Given the description of an element on the screen output the (x, y) to click on. 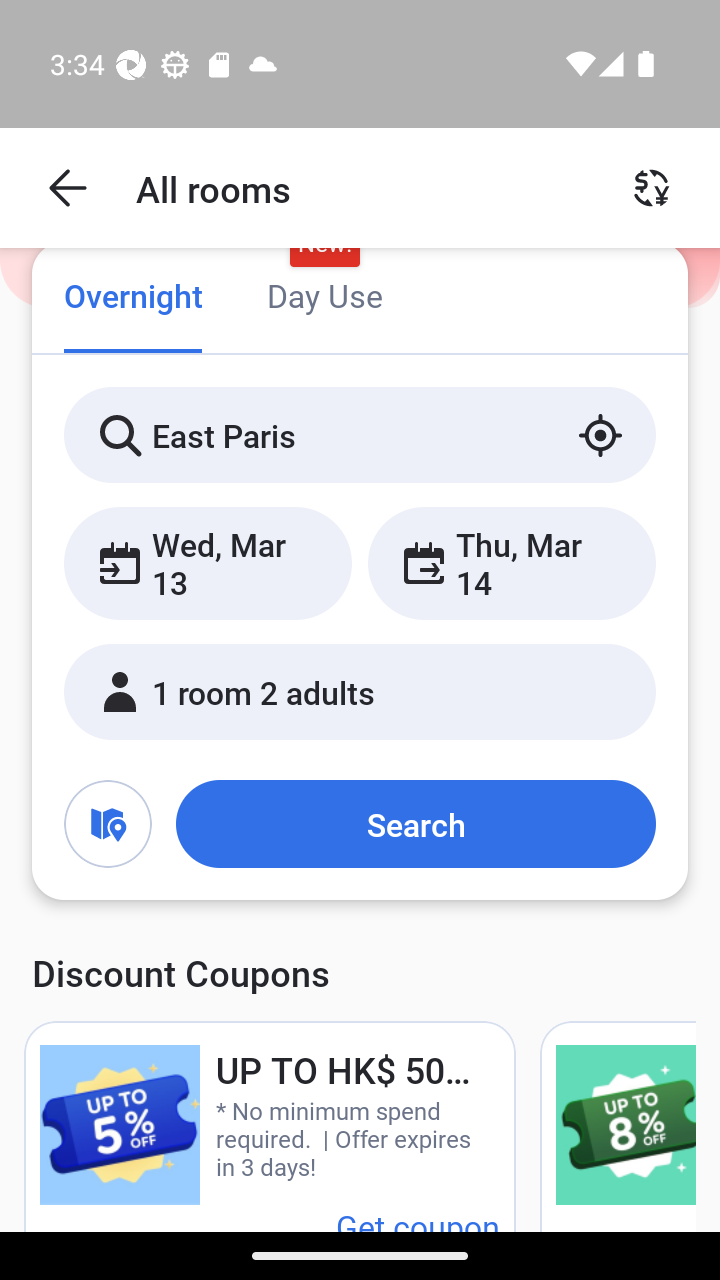
Day Use (324, 298)
East Paris (359, 434)
Wed, Mar 13 (208, 562)
Thu, Mar 14 (511, 562)
1 room 2 adults (359, 691)
Search (415, 823)
